Given the description of an element on the screen output the (x, y) to click on. 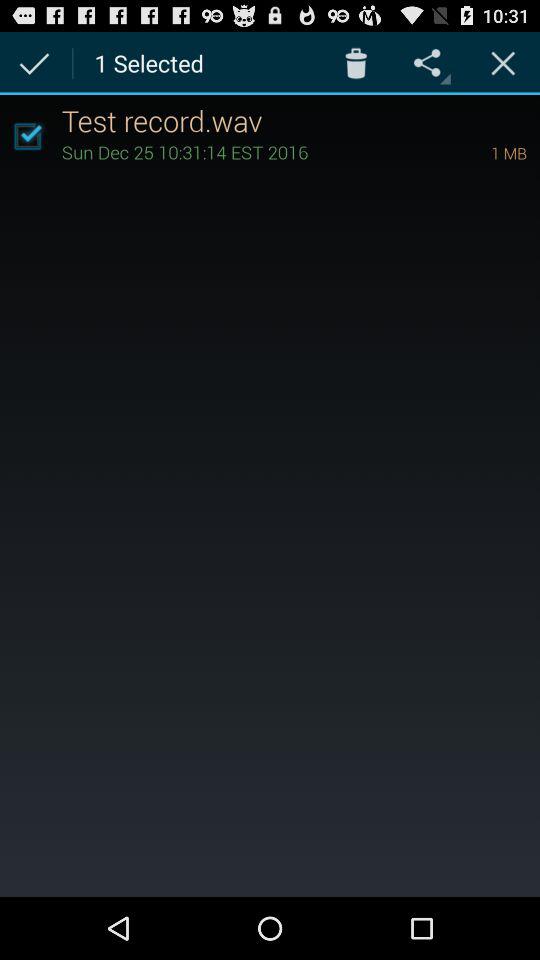
select 1 mb icon (481, 152)
